Given the description of an element on the screen output the (x, y) to click on. 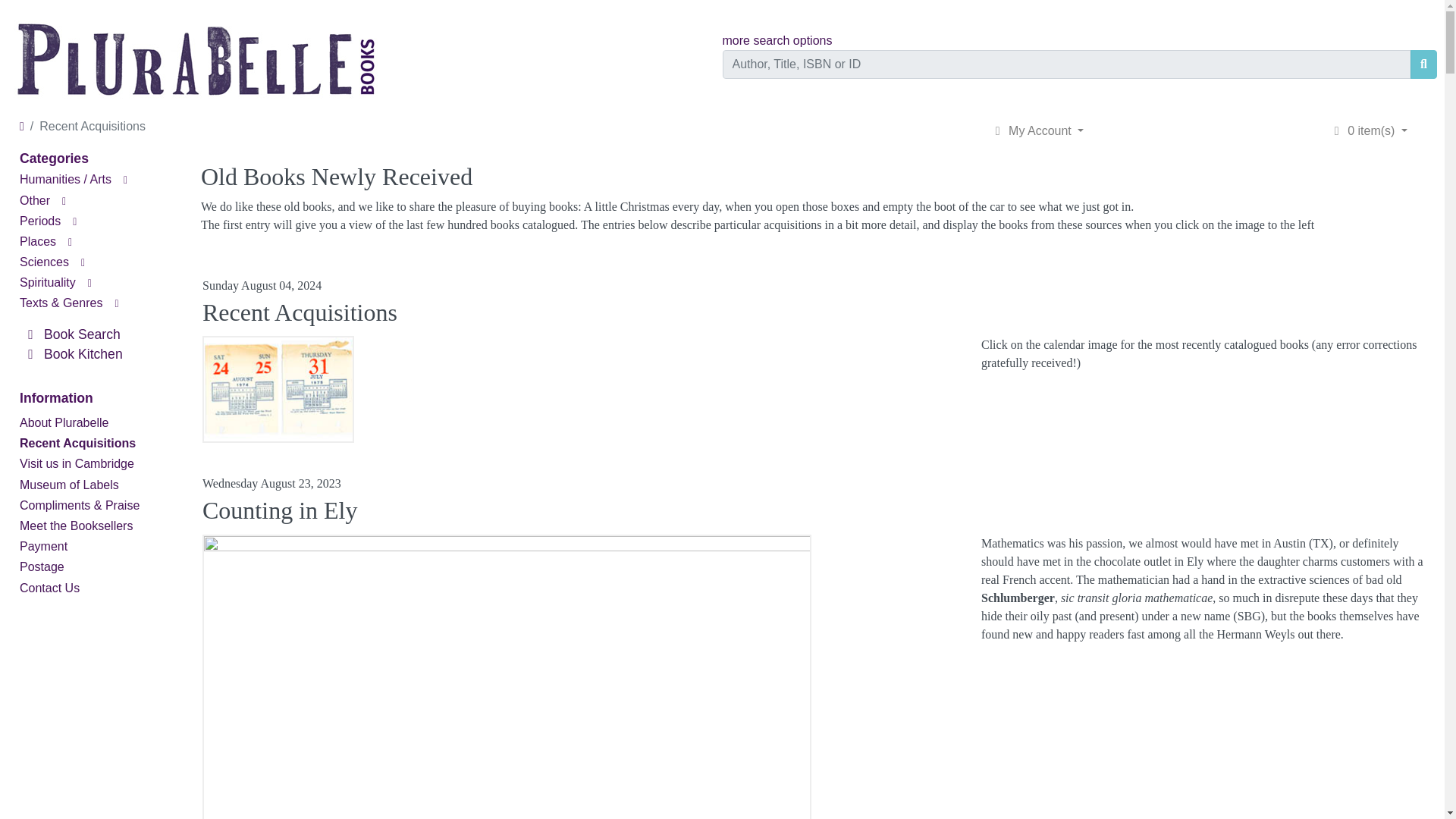
Other (34, 200)
My Account (1037, 130)
more search options (776, 39)
Plurabelle Books (197, 54)
